Given the description of an element on the screen output the (x, y) to click on. 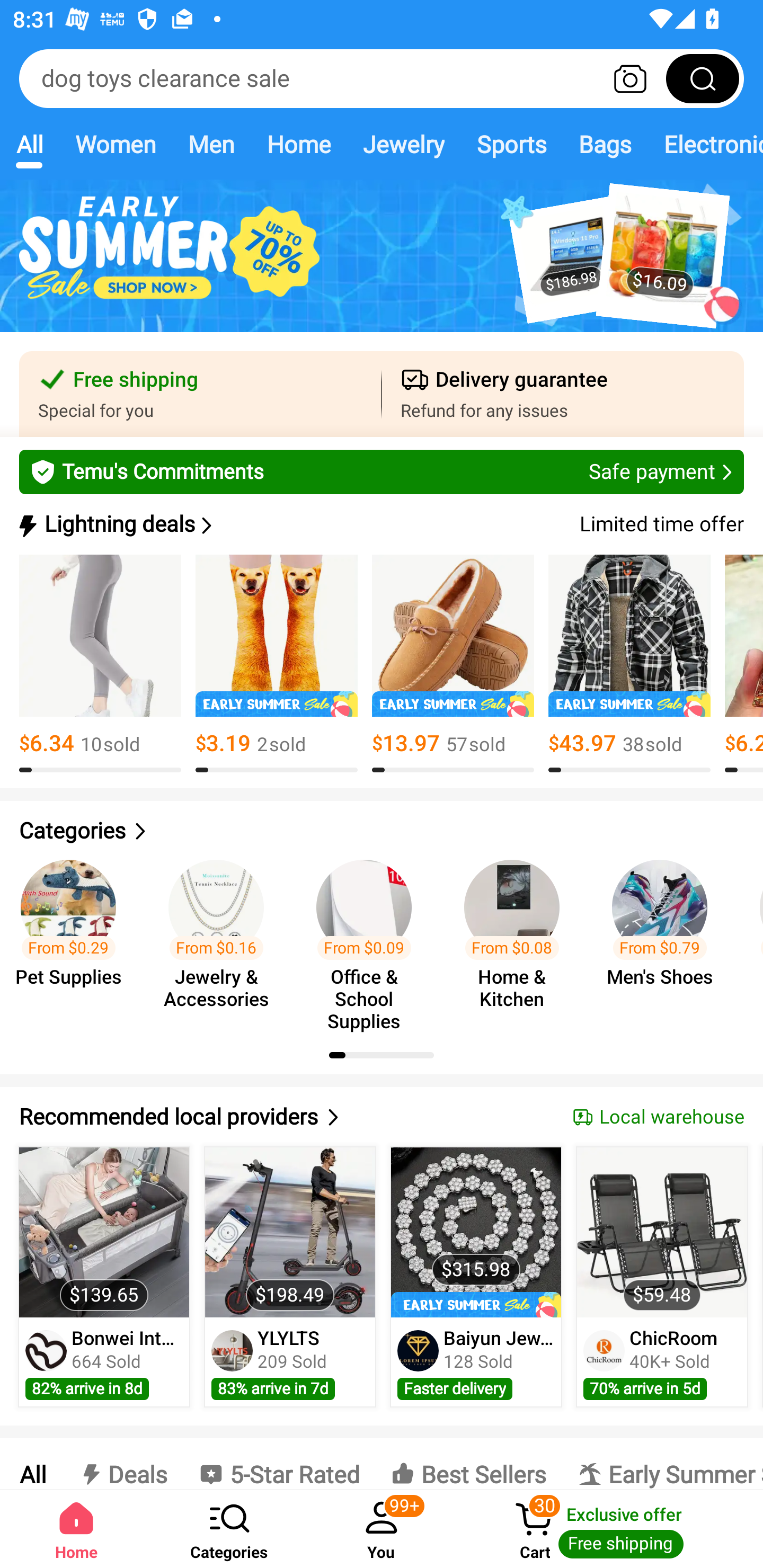
dog toys clearance sale (381, 78)
All (29, 144)
Women (115, 144)
Men (211, 144)
Home (298, 144)
Jewelry (403, 144)
Sports (511, 144)
Bags (605, 144)
Electronics (705, 144)
$186.98 $16.09 (381, 265)
Free shipping Special for you (200, 394)
Delivery guarantee Refund for any issues (562, 394)
Temu's Commitments (381, 471)
Lightning deals Lightning deals Limited time offer (379, 524)
$6.34 10￼sold 8.0 (100, 664)
$3.19 2￼sold 8.0 (276, 664)
$13.97 57￼sold 8.0 (453, 664)
$43.97 38￼sold 8.0 (629, 664)
